Given the description of an element on the screen output the (x, y) to click on. 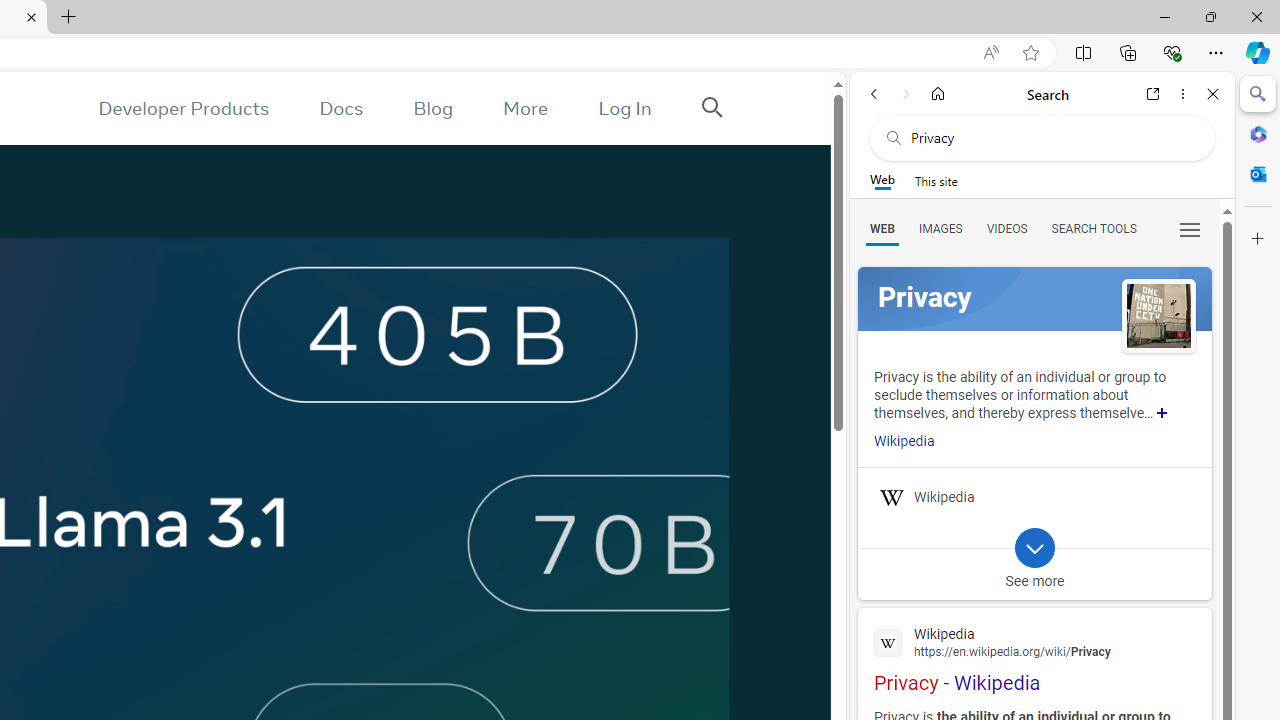
VIDEOS (1006, 228)
Preferences (1189, 228)
SEARCH TOOLS (1093, 228)
See more images of Privacy (1158, 317)
Customize (1258, 239)
Docs (341, 108)
